Given the description of an element on the screen output the (x, y) to click on. 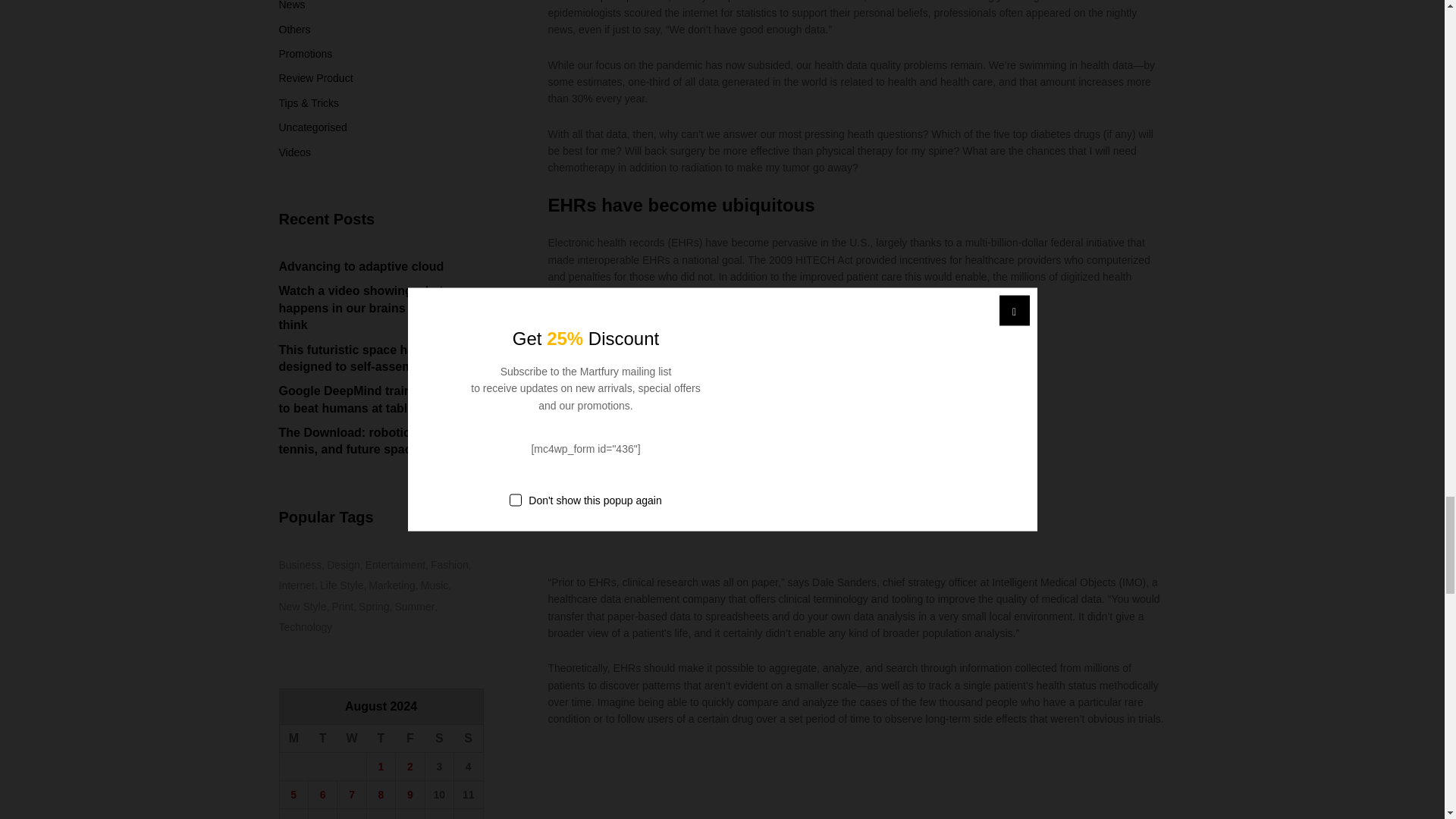
Monday (293, 738)
Tuesday (321, 738)
Friday (410, 738)
Sunday (468, 738)
Wednesday (351, 738)
Saturday (438, 738)
Thursday (380, 738)
